Given the description of an element on the screen output the (x, y) to click on. 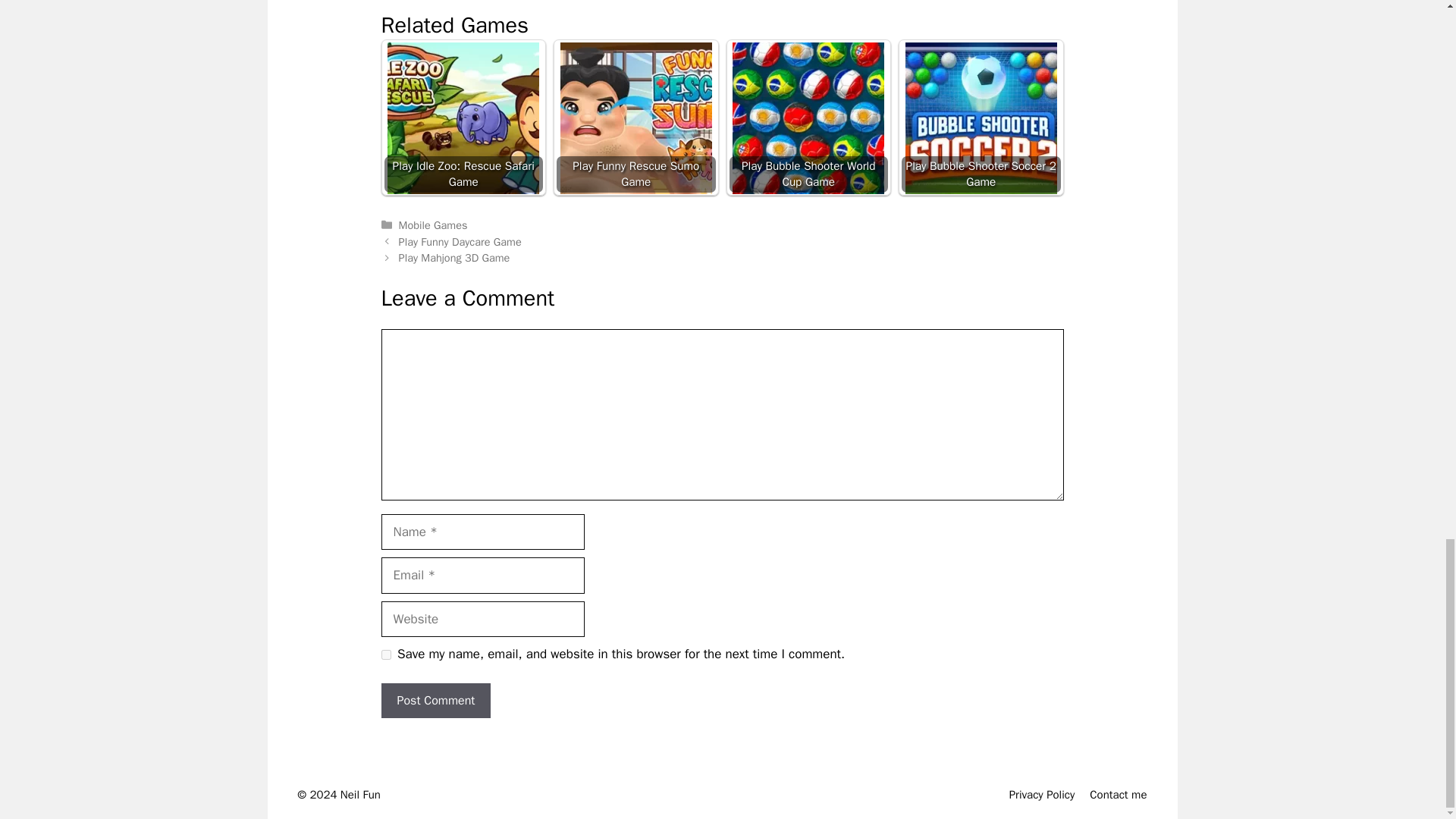
Privacy Policy (1042, 794)
Play Funny Rescue Sumo Game (635, 117)
Play Bubble Shooter Soccer 2 Game (981, 118)
Play Bubble Shooter World Cup Game (807, 117)
Play Funny Daycare Game (459, 241)
Play Funny Rescue Sumo Game (635, 118)
Play Bubble Shooter World Cup Game (807, 118)
Contact me (1118, 794)
